Given the description of an element on the screen output the (x, y) to click on. 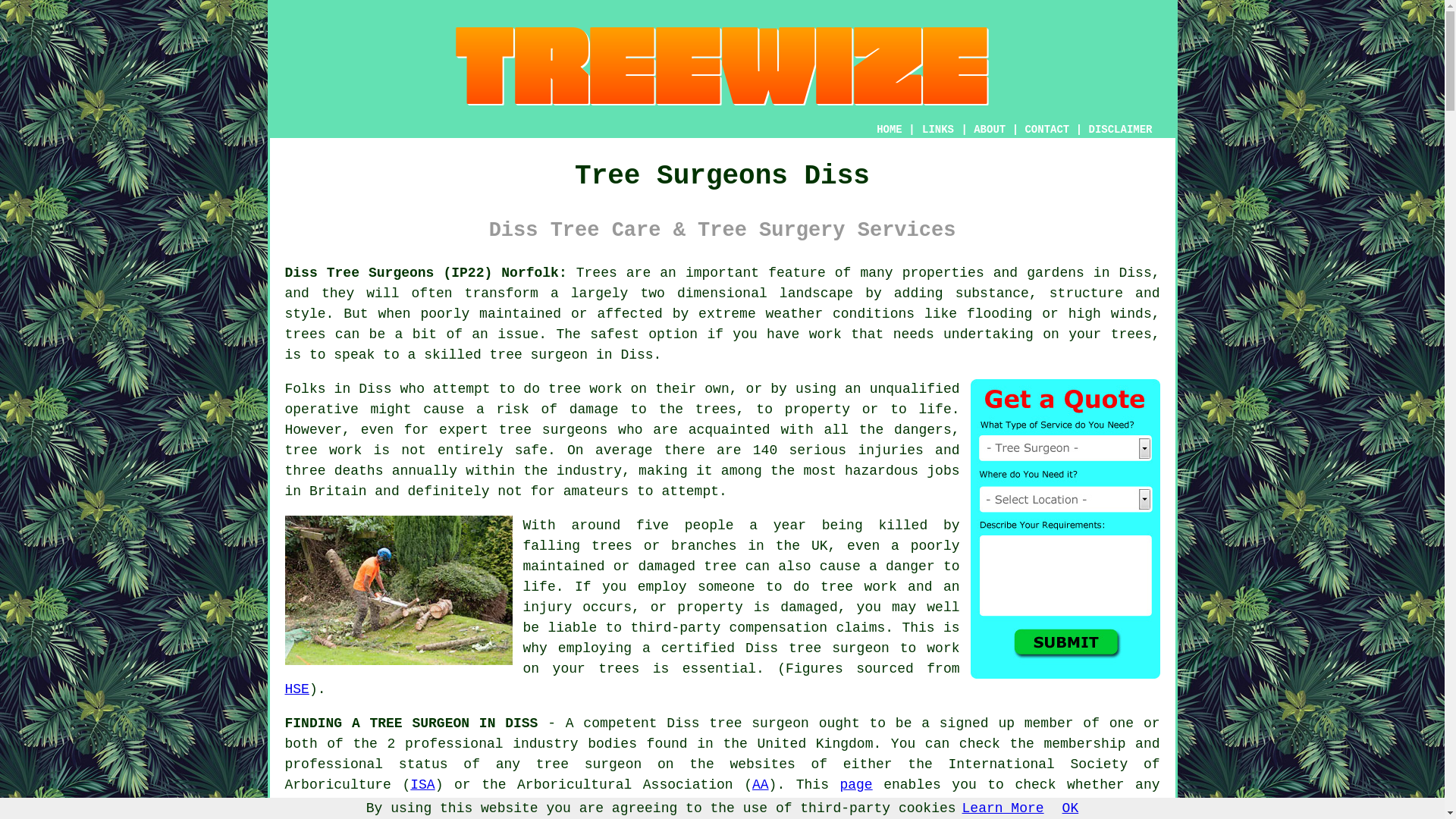
HOME (889, 129)
Local Tree Surgeon Diss Norfolk (398, 590)
tree surgeons (553, 429)
LINKS (938, 129)
Tree Surgeons Diss (721, 66)
tree surgeon (538, 354)
